Given the description of an element on the screen output the (x, y) to click on. 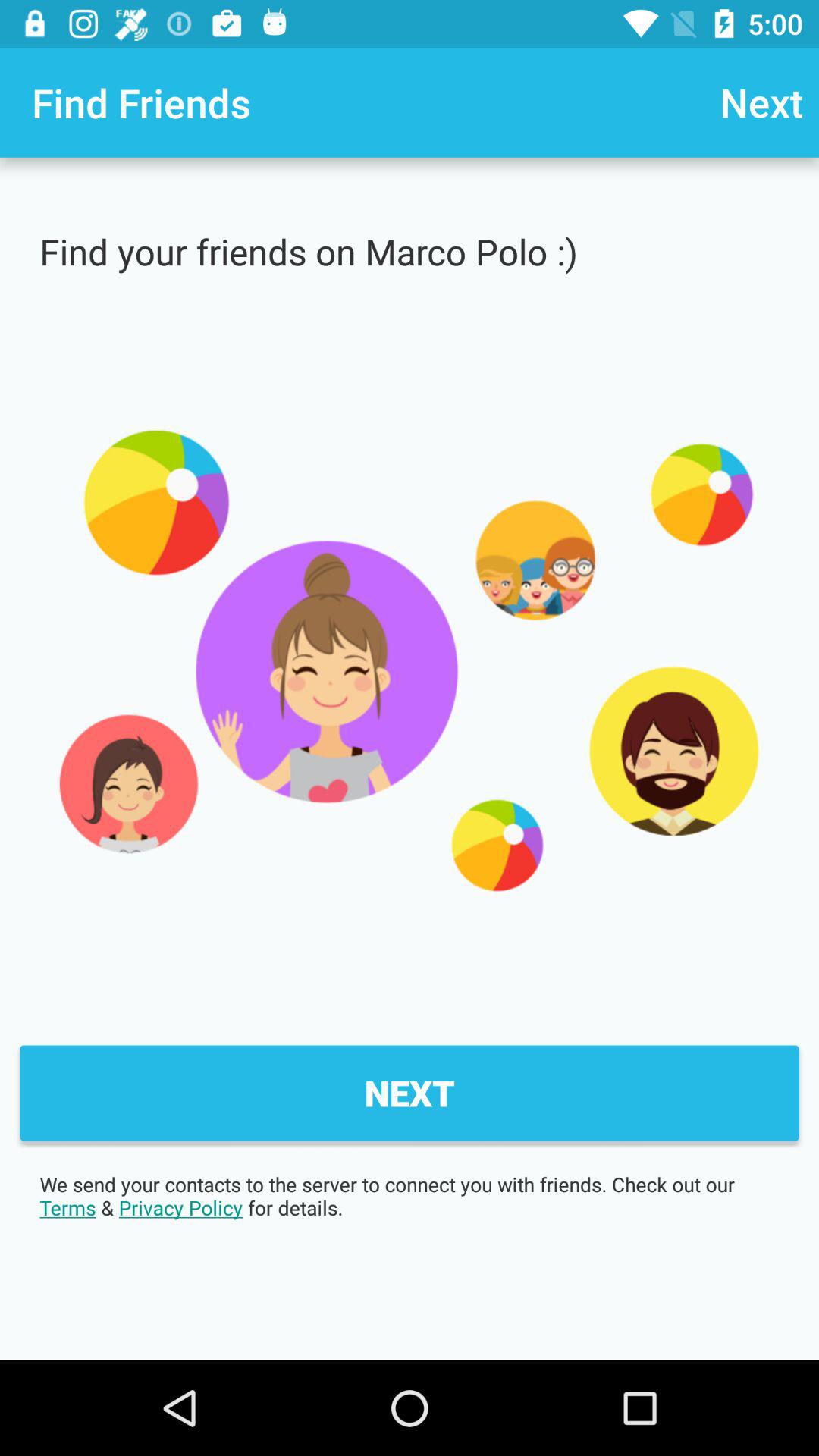
turn off item below next icon (409, 1196)
